Given the description of an element on the screen output the (x, y) to click on. 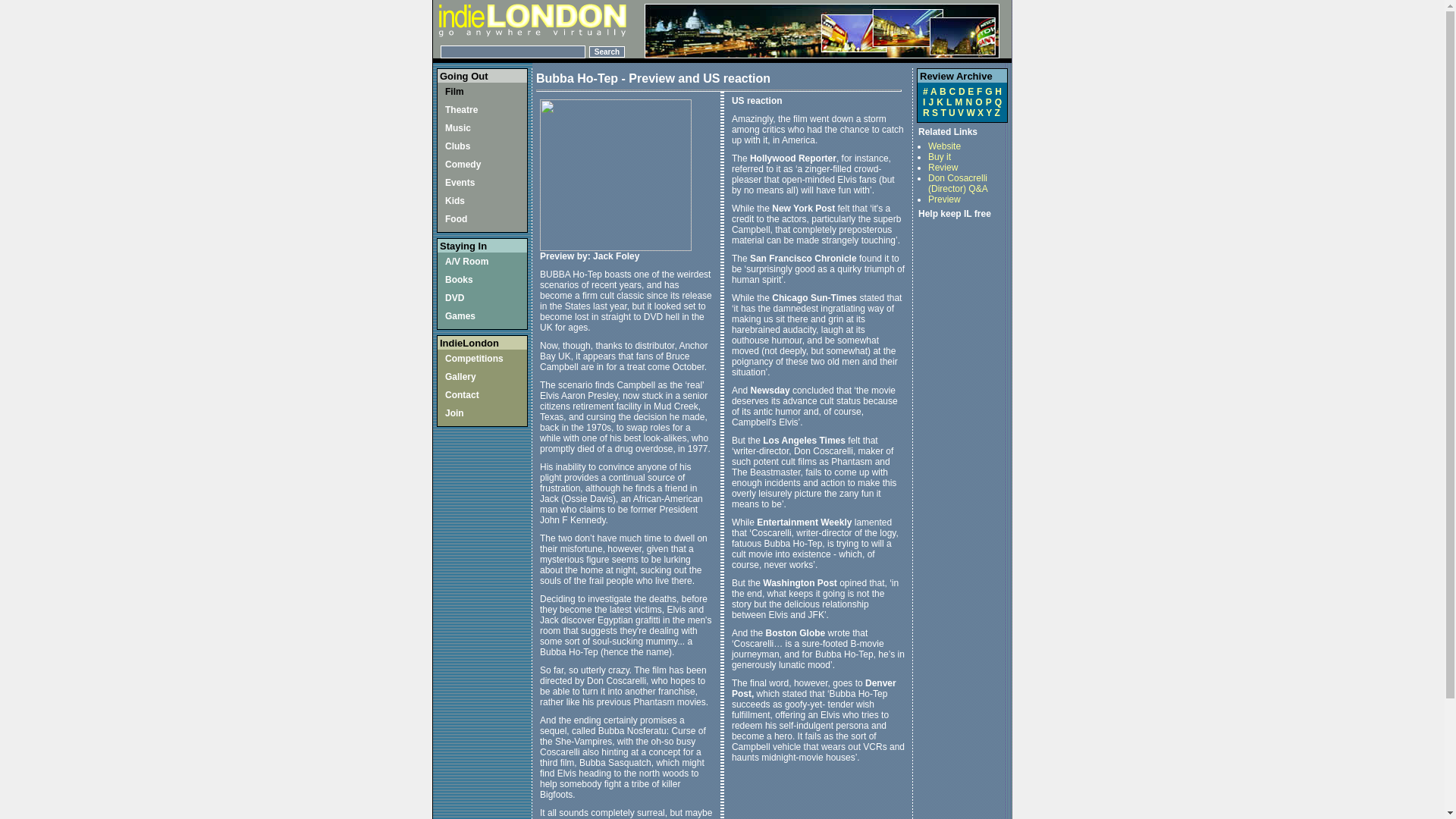
Gallery (460, 376)
Clubs (457, 145)
Contact (462, 394)
Books (459, 279)
Join (454, 412)
Music (457, 127)
Games (460, 316)
Competitions (474, 357)
Comedy (462, 163)
DVD (454, 297)
Theatre (461, 109)
Search (606, 51)
Kids (454, 200)
Film (454, 91)
Food (456, 218)
